Given the description of an element on the screen output the (x, y) to click on. 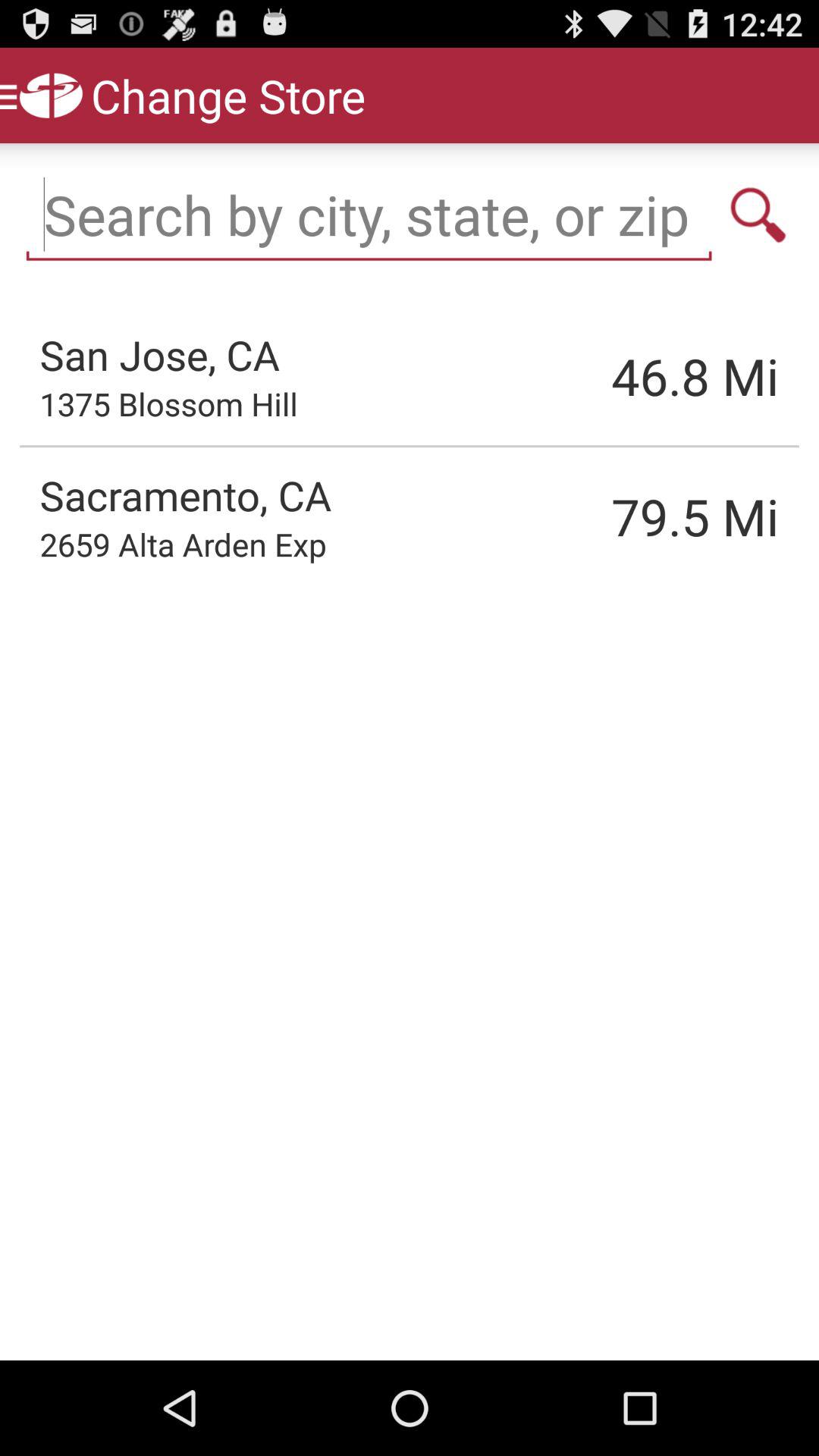
open the icon below the 46.8 item (617, 516)
